Given the description of an element on the screen output the (x, y) to click on. 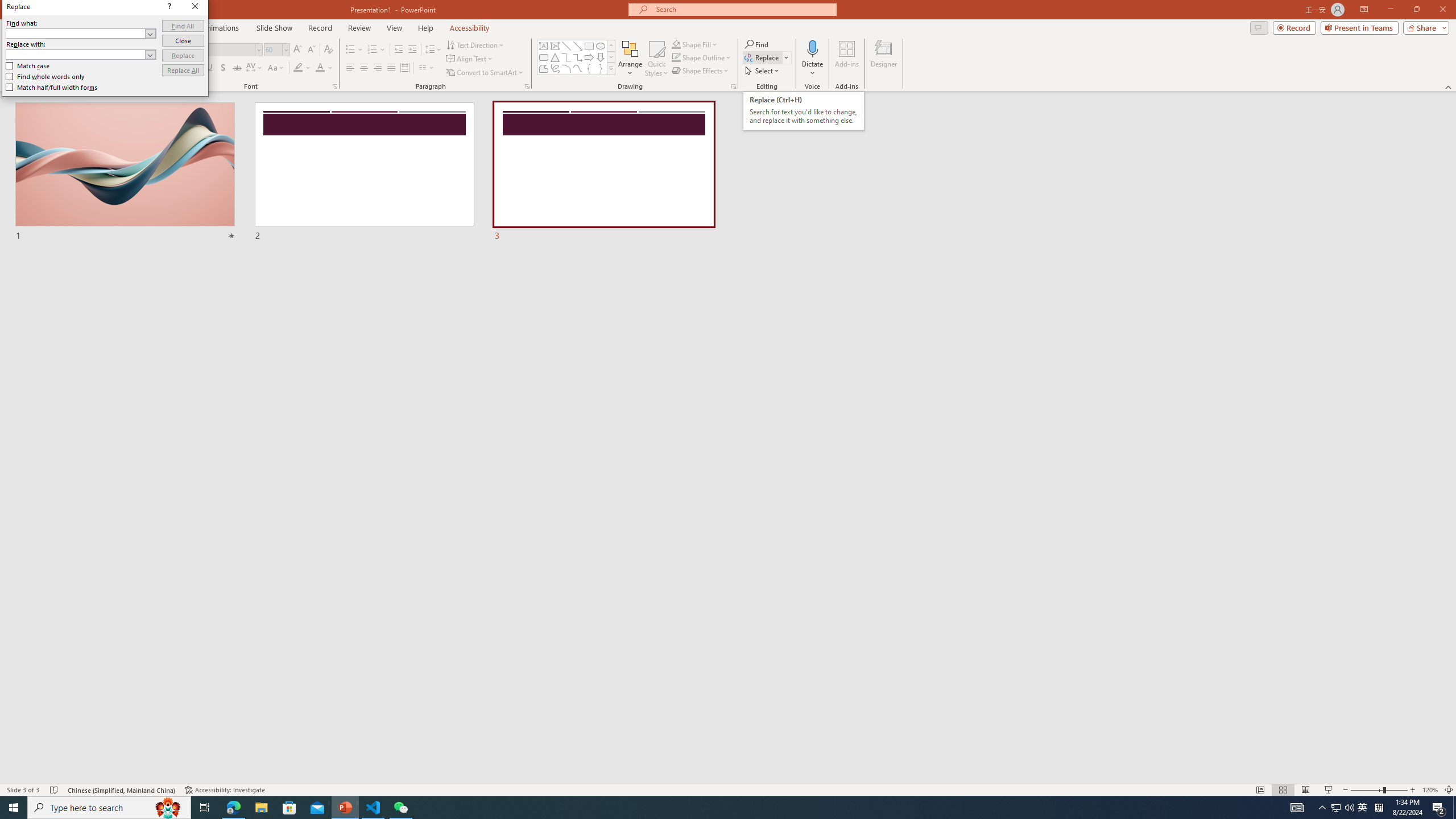
Zoom 120% (1430, 790)
Replace All (183, 69)
